Given the description of an element on the screen output the (x, y) to click on. 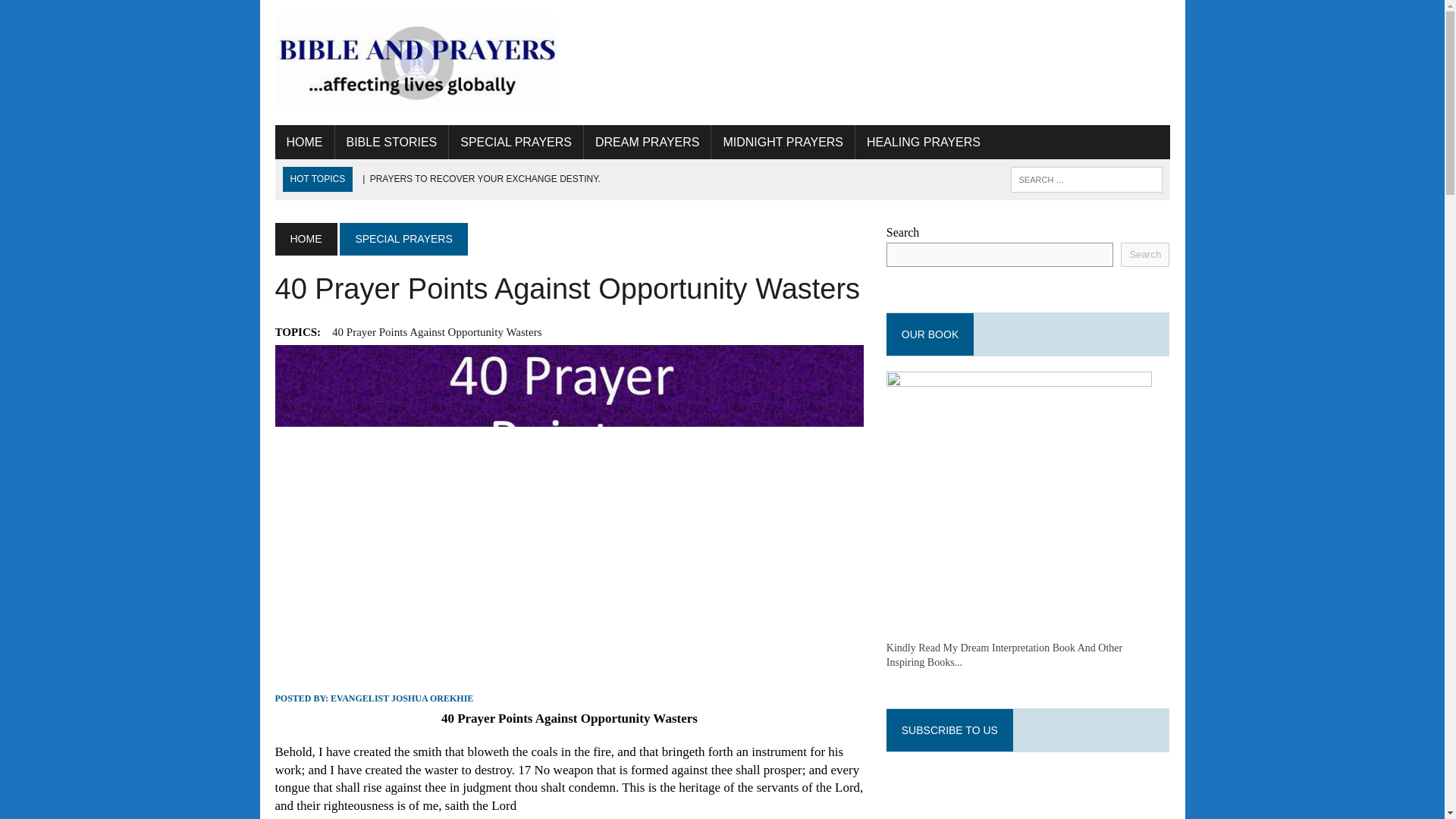
Search (75, 14)
HOME (305, 238)
EVANGELIST JOSHUA OREKHIE (401, 697)
BIBLE STORIES (391, 142)
HEALING PRAYERS (923, 142)
DREAM PRAYERS (647, 142)
Prayers To Recover Your Exchange Destiny. (479, 178)
Bible and Prayers (416, 62)
Search (1145, 254)
SPECIAL PRAYERS (403, 238)
